Given the description of an element on the screen output the (x, y) to click on. 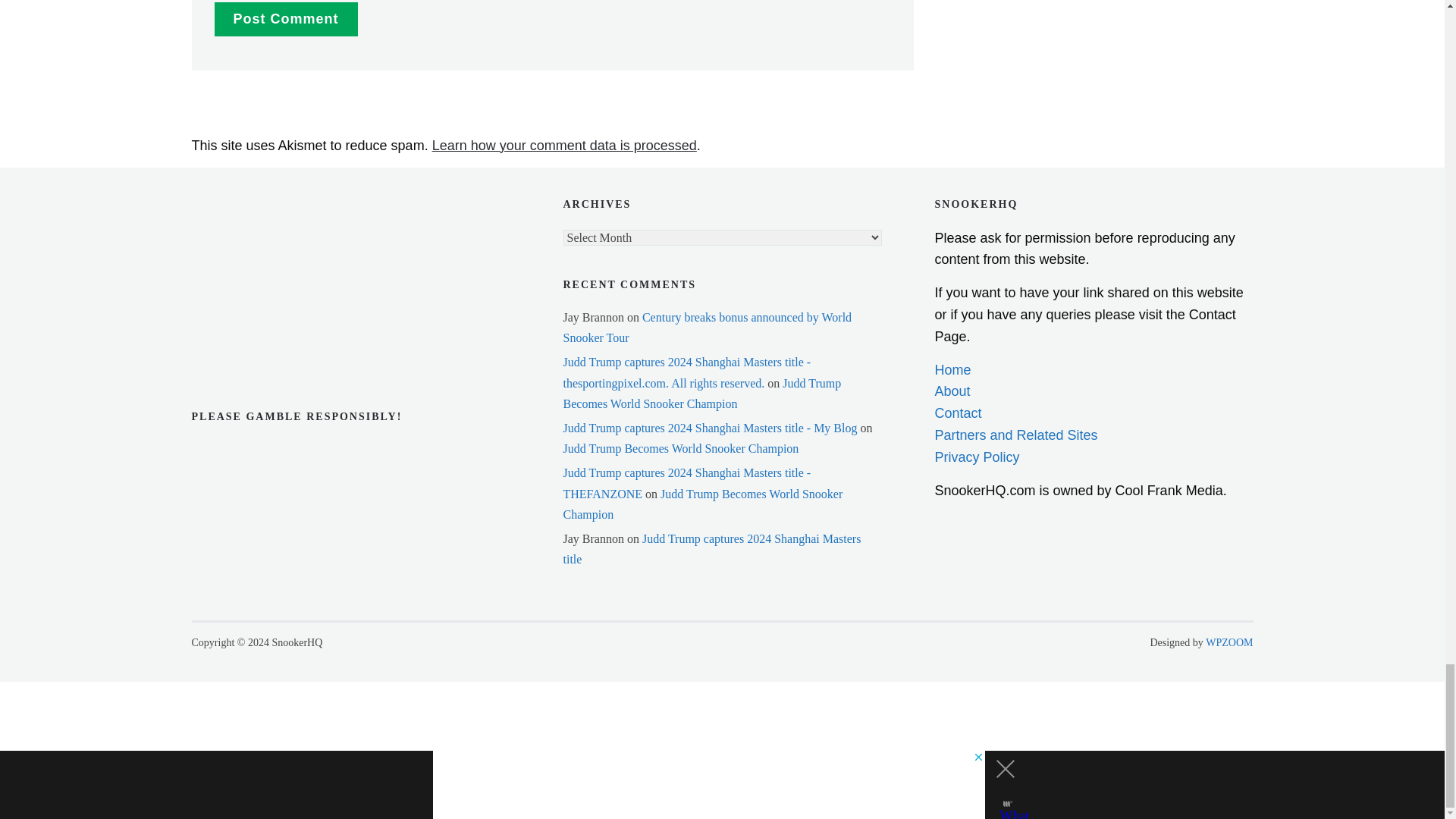
Post Comment (285, 19)
